Given the description of an element on the screen output the (x, y) to click on. 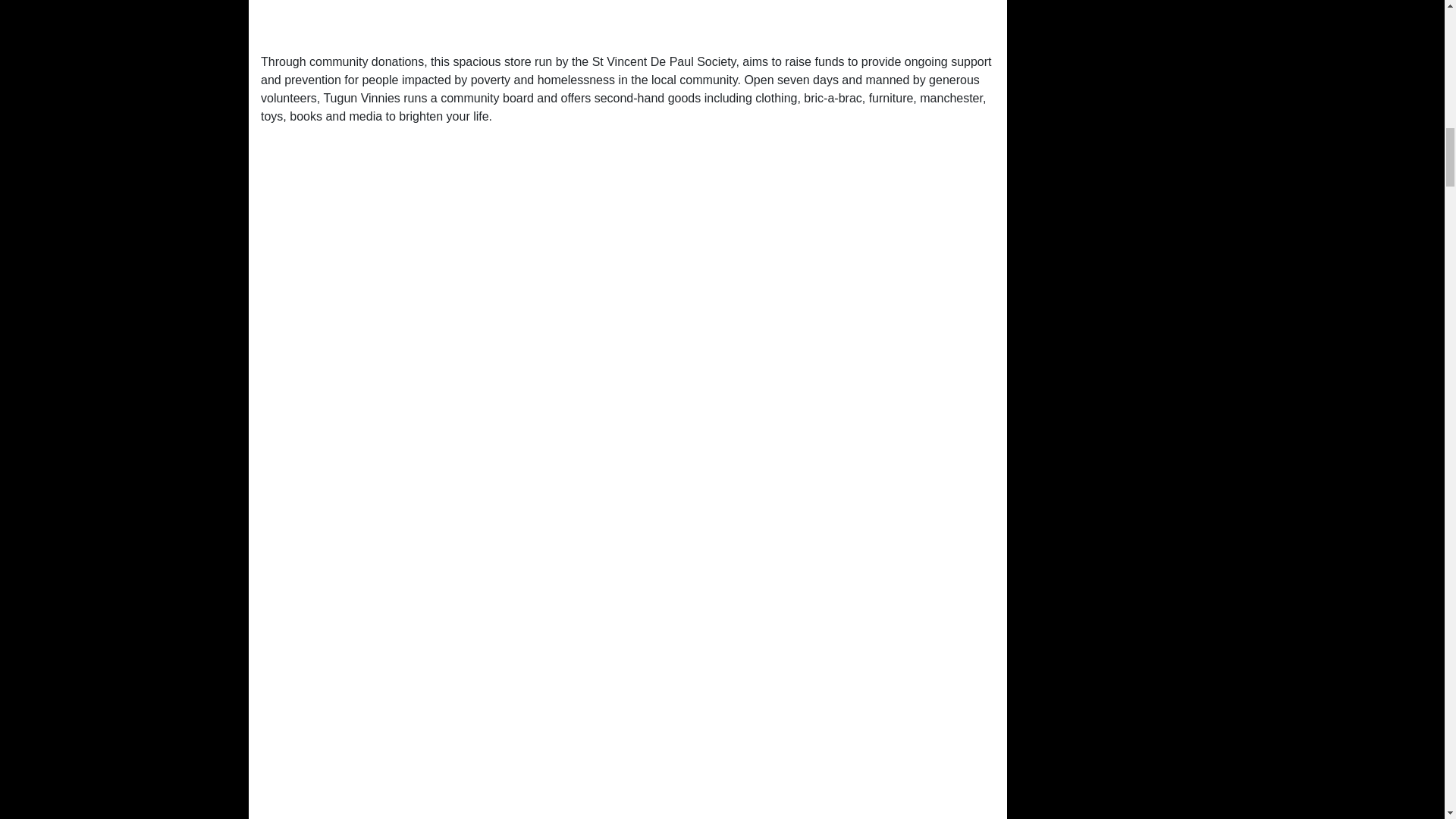
Vinnies Op Shop, Tugun (627, 20)
